Given the description of an element on the screen output the (x, y) to click on. 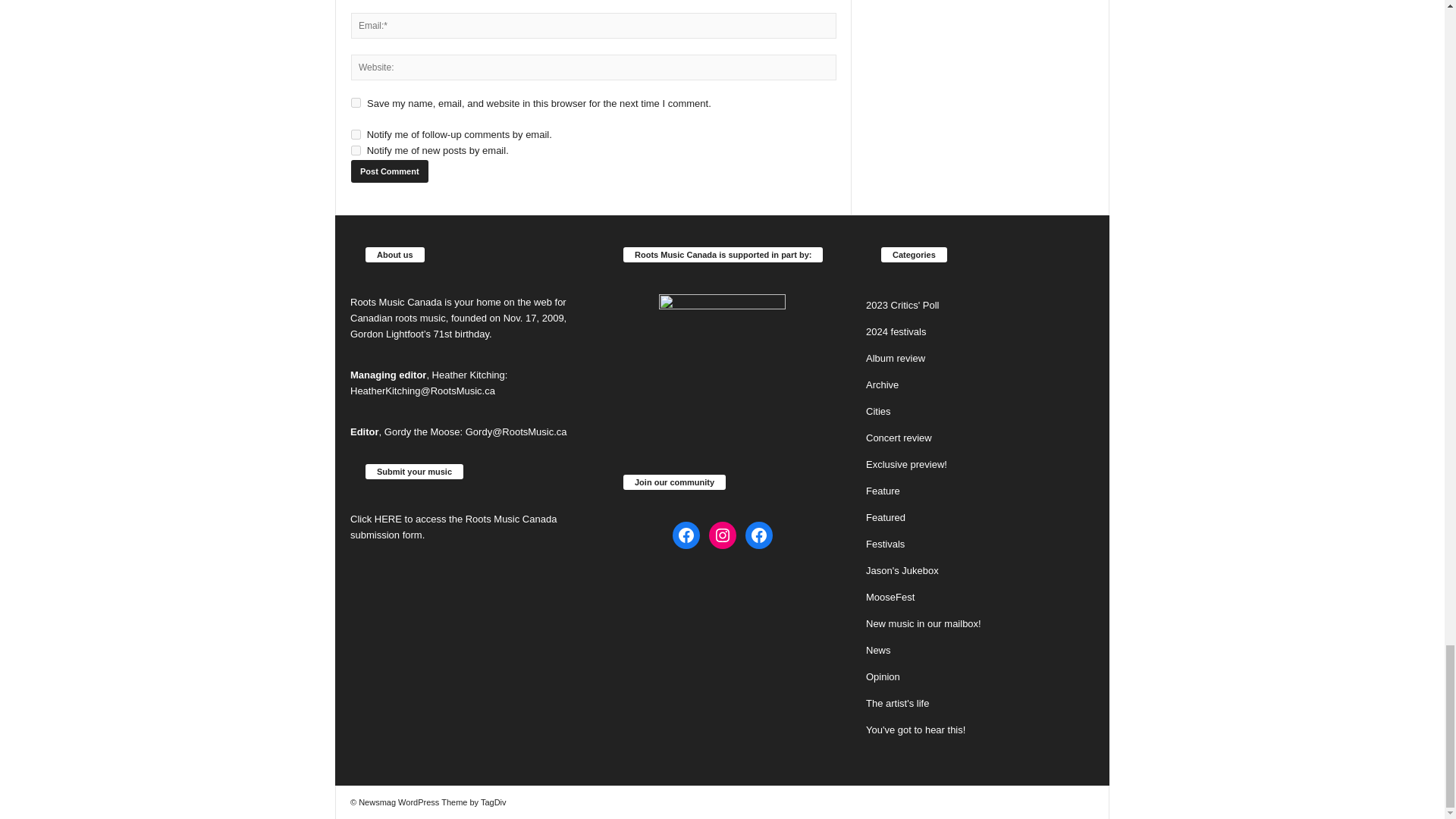
subscribe (355, 134)
yes (355, 102)
subscribe (355, 150)
Post Comment (389, 170)
